Given the description of an element on the screen output the (x, y) to click on. 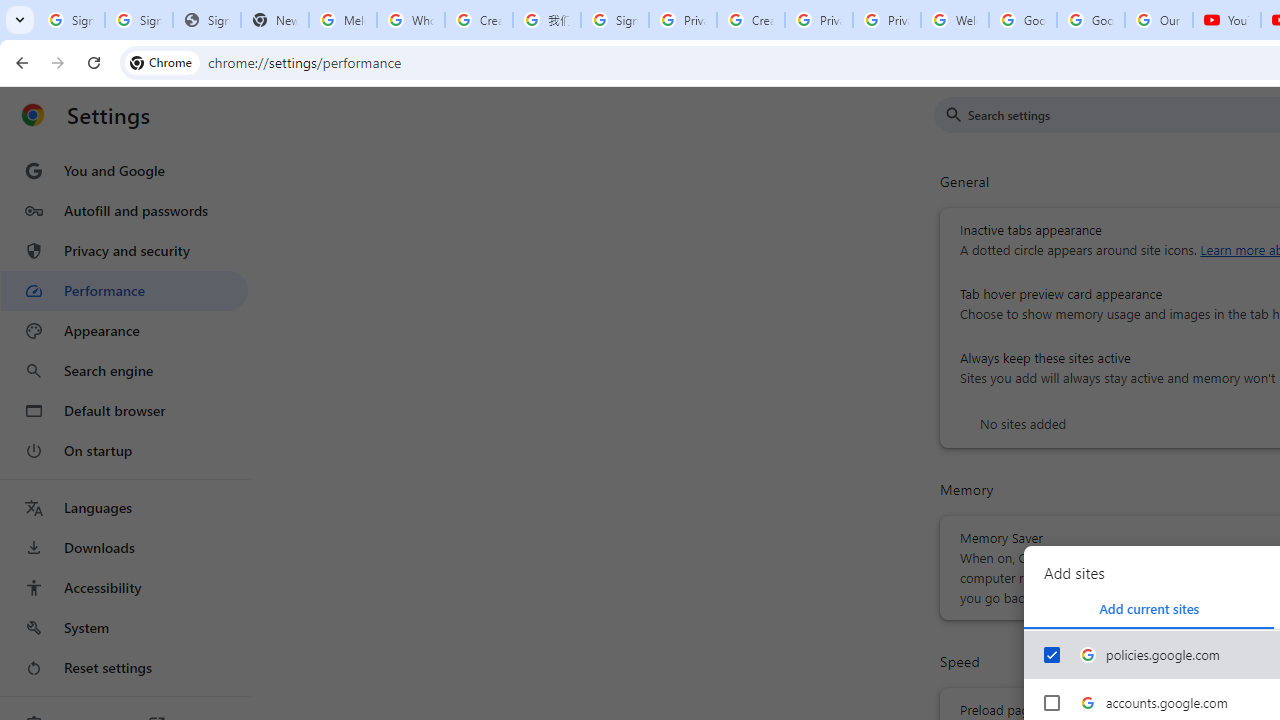
Create your Google Account (479, 20)
Add current sites (1149, 608)
Who is my administrator? - Google Account Help (411, 20)
YouTube (1226, 20)
